Given the description of an element on the screen output the (x, y) to click on. 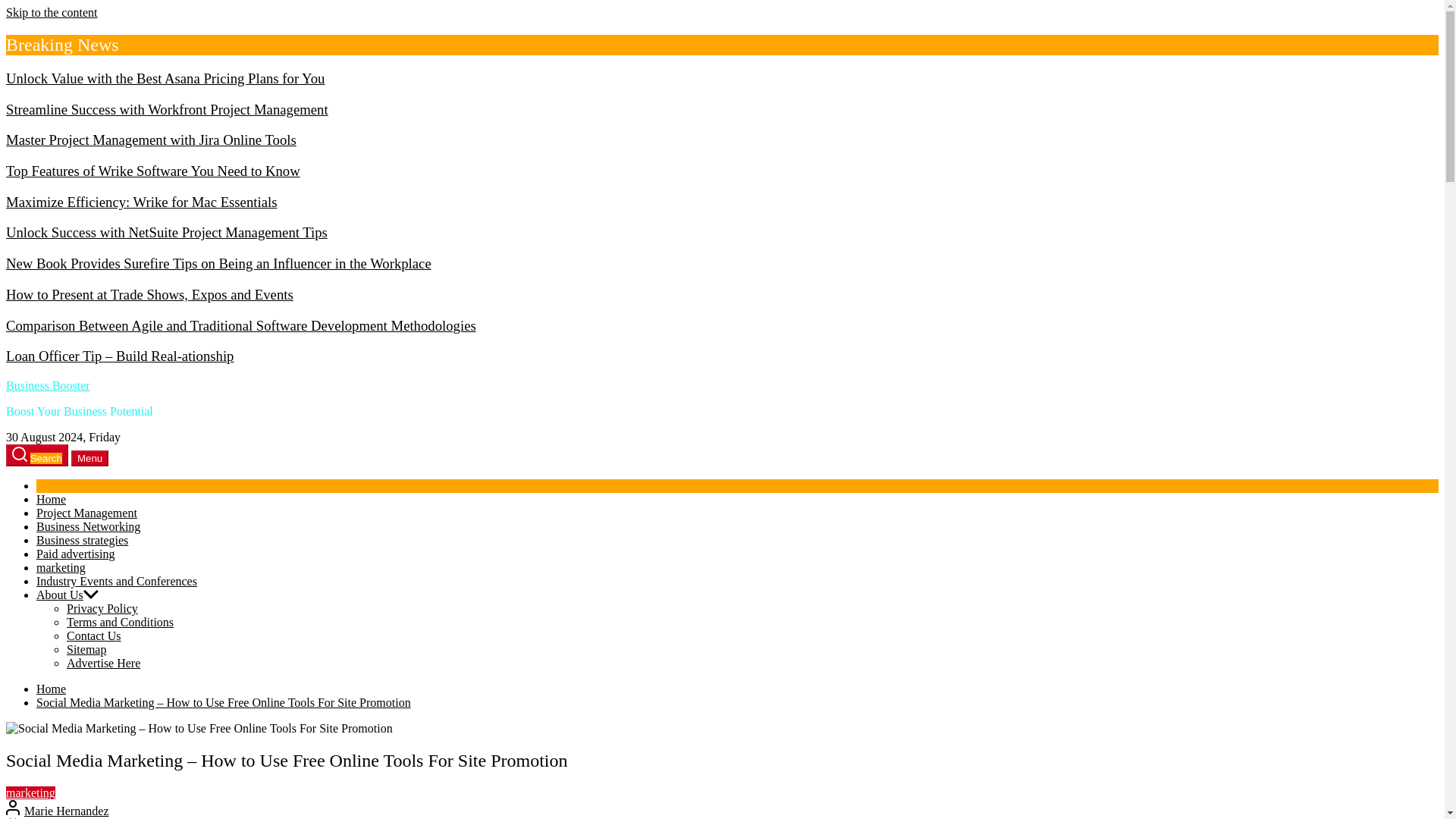
Industry Events and Conferences (116, 581)
Maximize Efficiency: Wrike for Mac Essentials (140, 201)
Terms and Conditions (119, 621)
Sitemap (86, 649)
marketing (60, 567)
Unlock Success with NetSuite Project Management Tips (166, 232)
Menu (89, 458)
Unlock Value with the Best Asana Pricing Plans for You (164, 78)
Business strategies (82, 540)
Business Networking (87, 526)
